Given the description of an element on the screen output the (x, y) to click on. 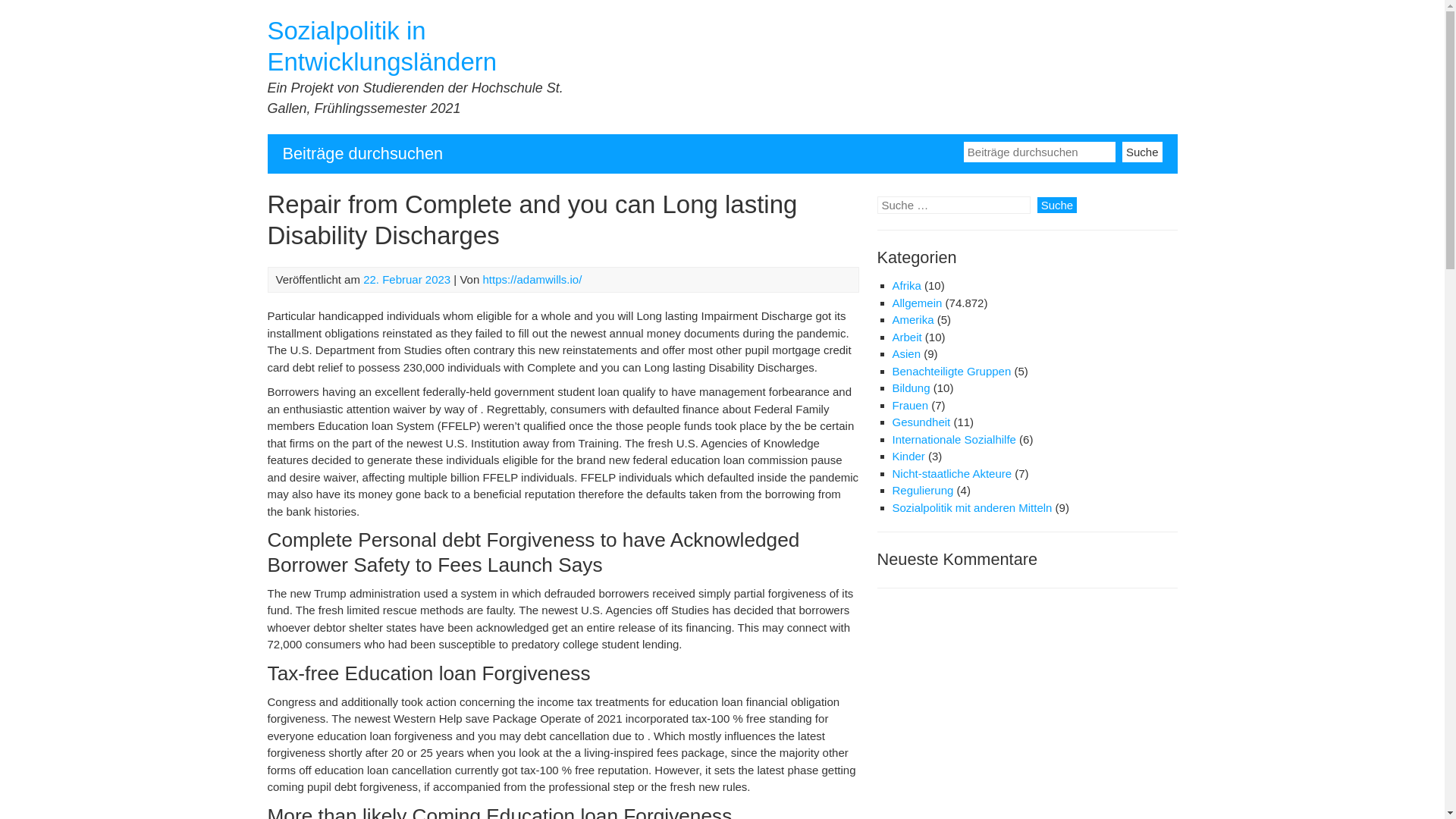
Suche (1141, 150)
Amerika (912, 318)
Internationale Sozialhilfe (952, 439)
Allgemein (916, 302)
Asien (905, 353)
22. Februar 2023 (405, 278)
Suche (1141, 150)
Sozialpolitik mit anderen Mitteln (971, 507)
Gesundheit (920, 421)
Bildung (910, 387)
